Given the description of an element on the screen output the (x, y) to click on. 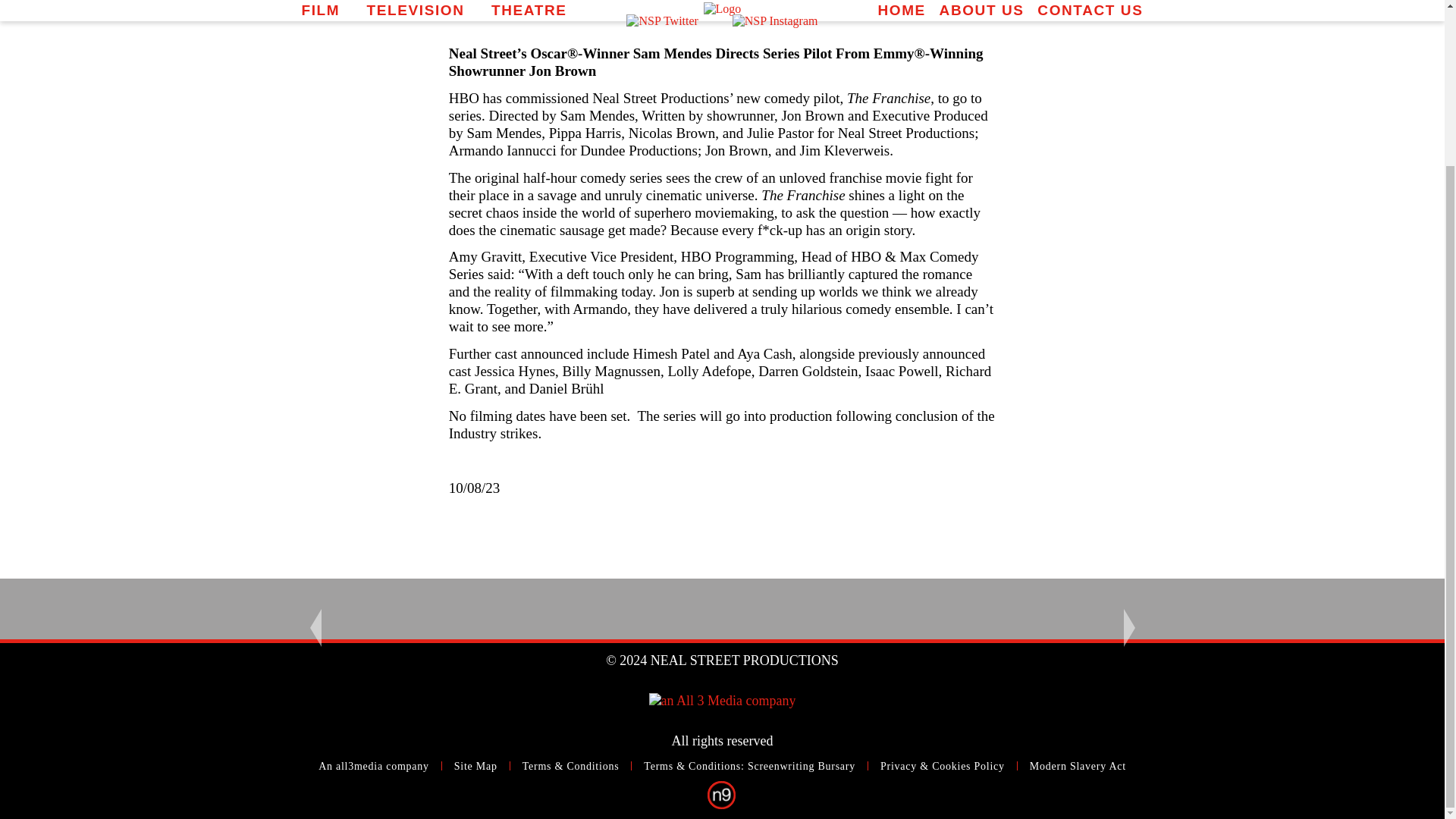
Modern Slavery Act (1077, 766)
Site Map (475, 766)
an All 3 Media company (722, 700)
An all3media company (373, 766)
